Given the description of an element on the screen output the (x, y) to click on. 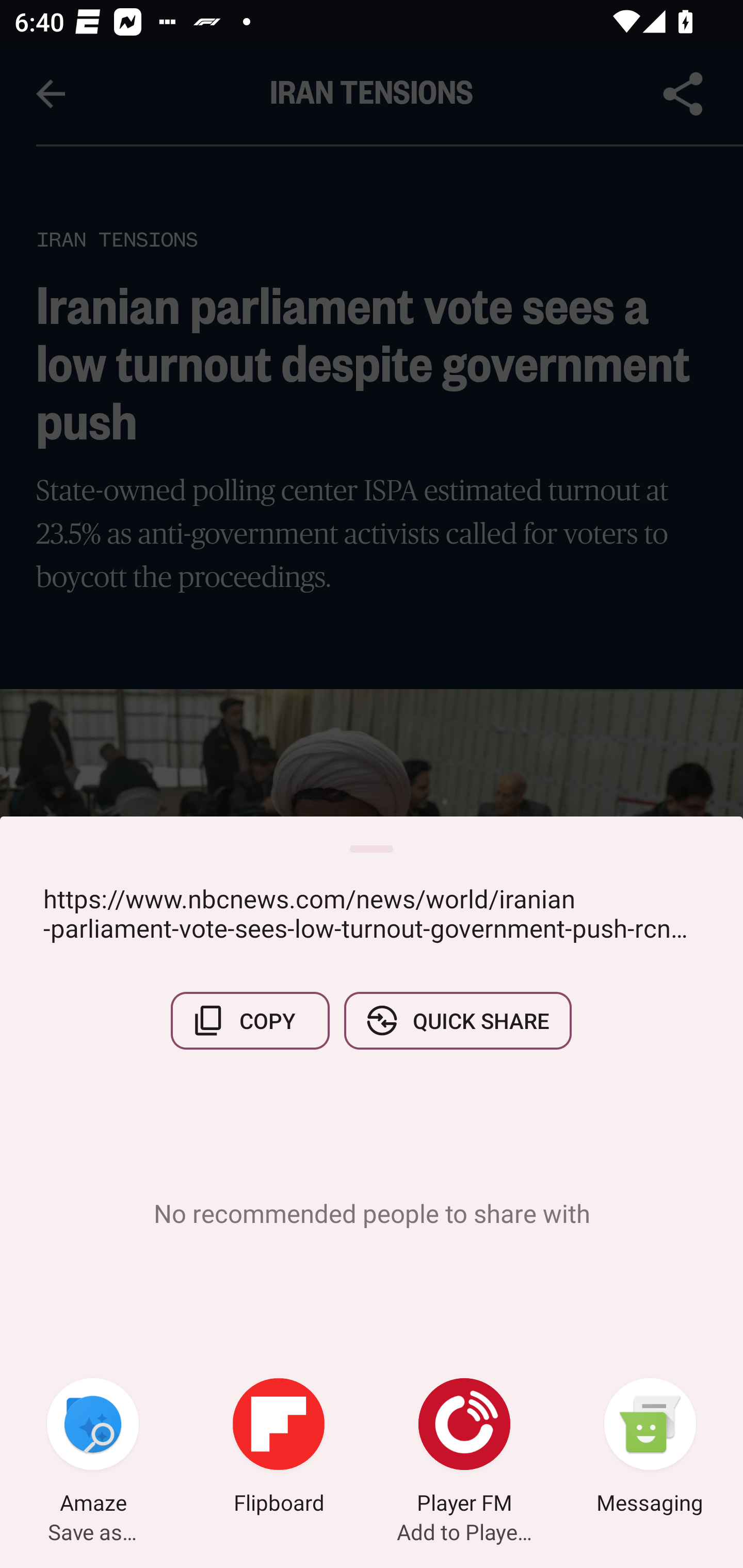
COPY (249, 1020)
QUICK SHARE (457, 1020)
Amaze Save as… (92, 1448)
Flipboard (278, 1448)
Player FM Add to Player FM (464, 1448)
Messaging (650, 1448)
